Given the description of an element on the screen output the (x, y) to click on. 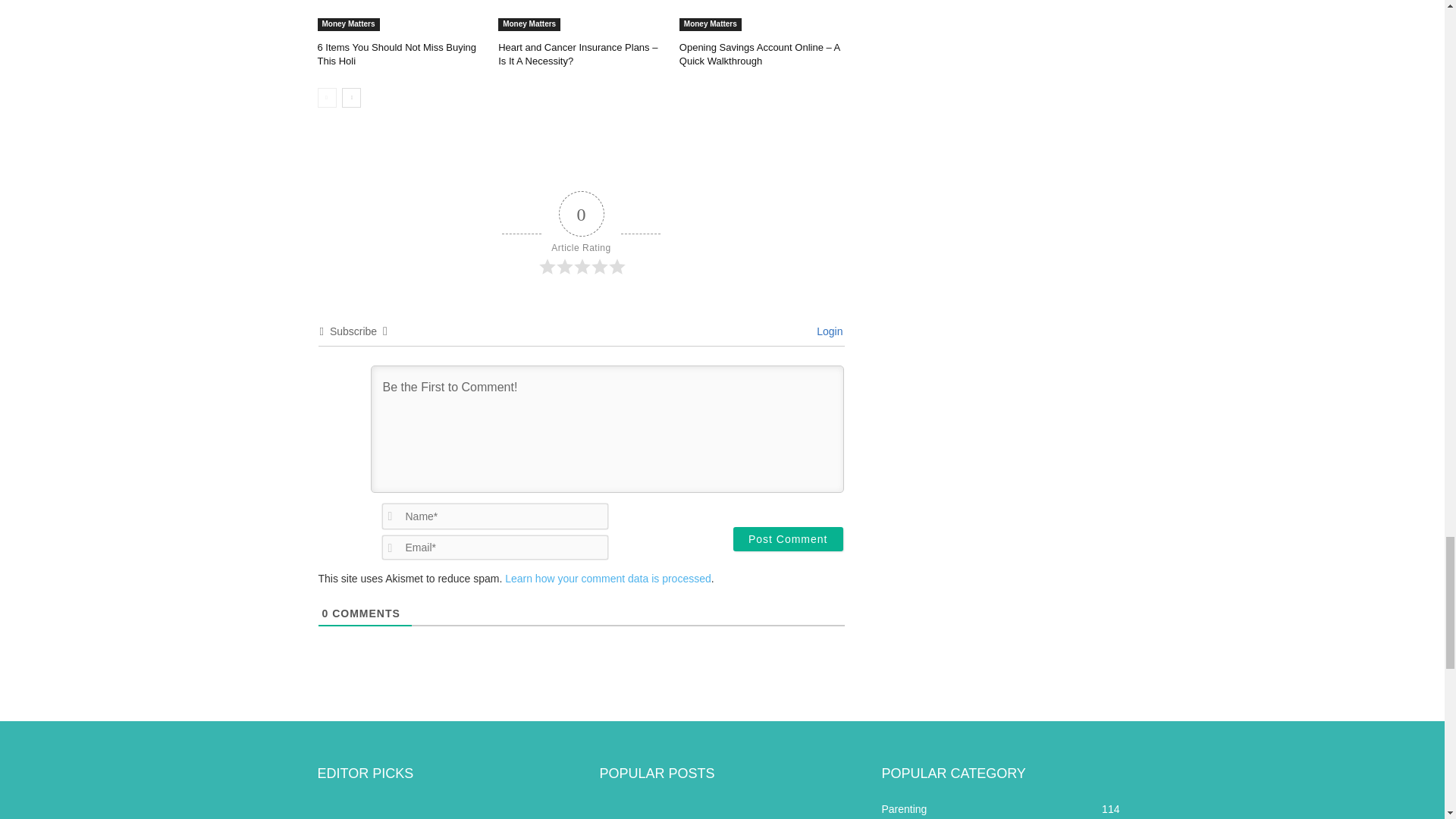
Post Comment (788, 539)
